Given the description of an element on the screen output the (x, y) to click on. 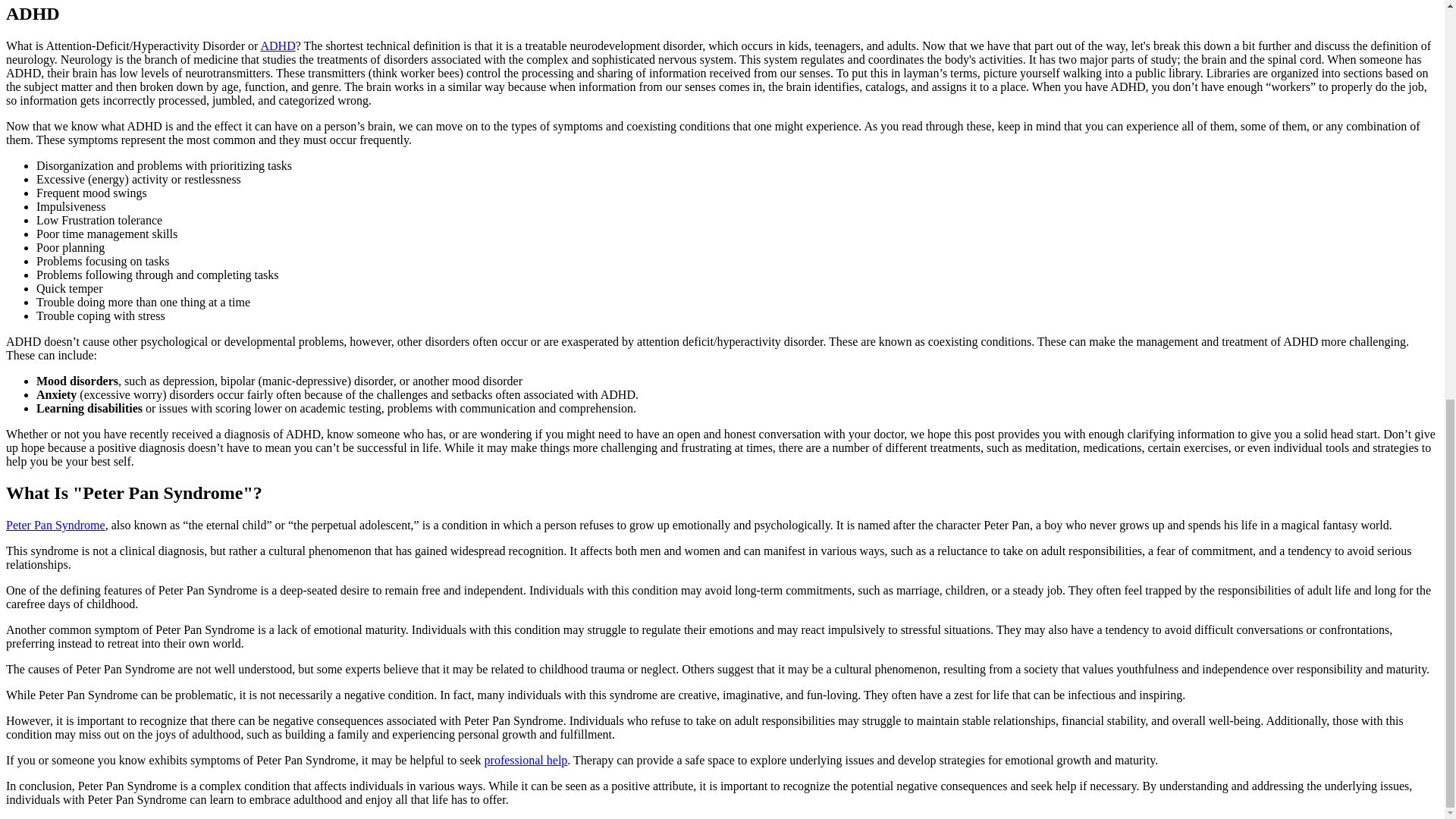
Peter Pan Syndrome (54, 524)
ADHD (277, 45)
professional help (525, 759)
ADHD (277, 45)
Peter Pan Syndrome (54, 524)
professional help (525, 759)
